Given the description of an element on the screen output the (x, y) to click on. 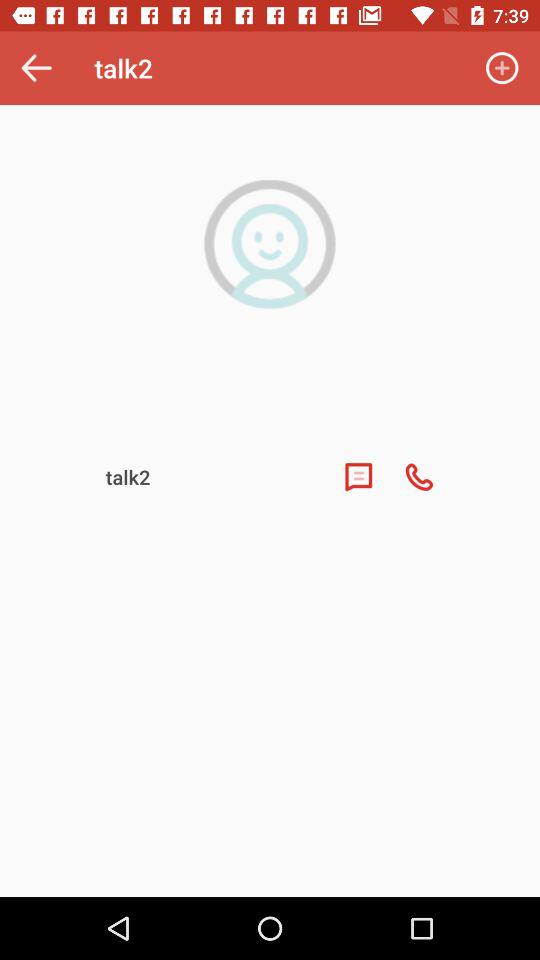
send a message button (358, 477)
